Given the description of an element on the screen output the (x, y) to click on. 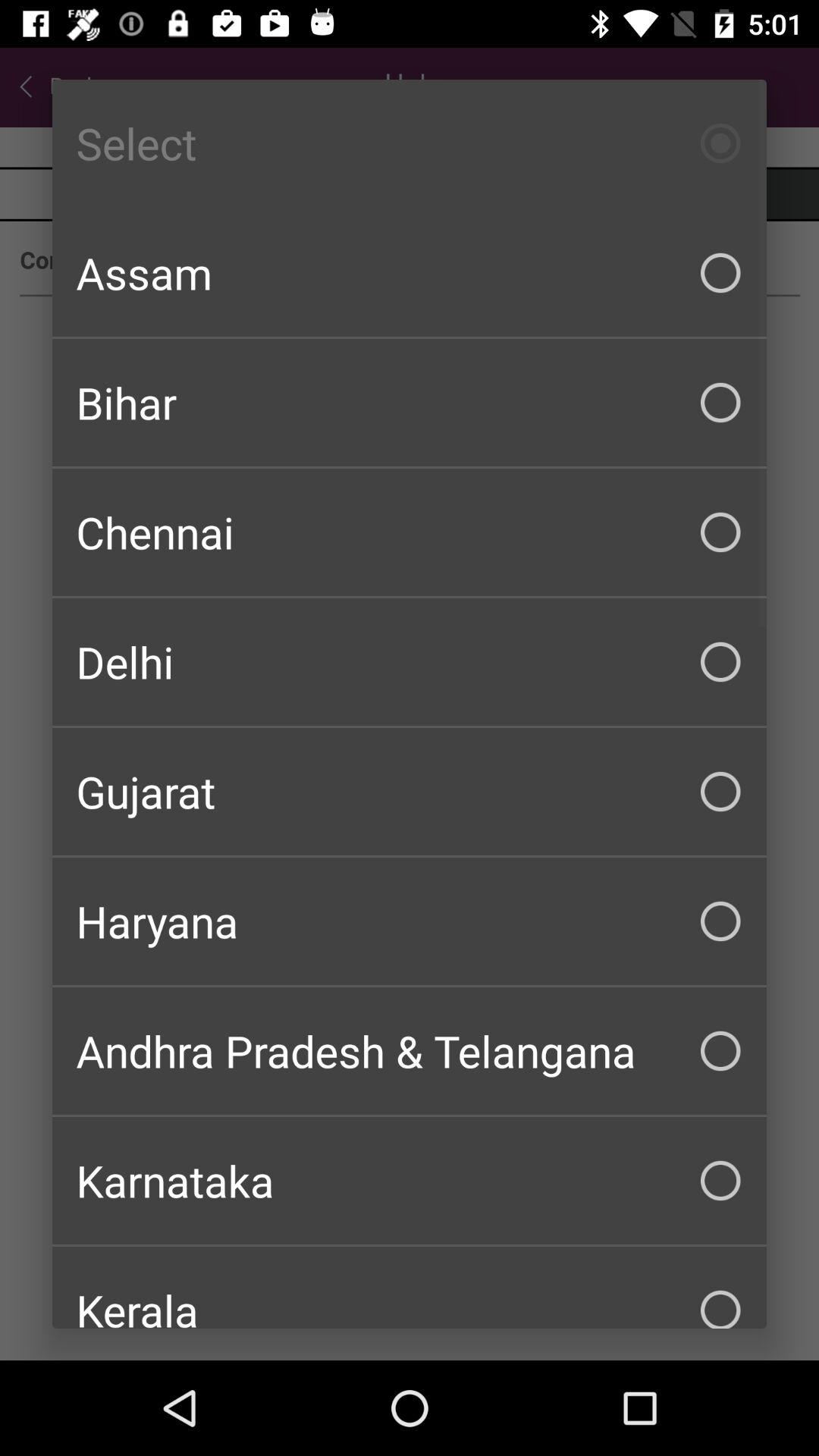
turn off checkbox below the assam icon (409, 402)
